Given the description of an element on the screen output the (x, y) to click on. 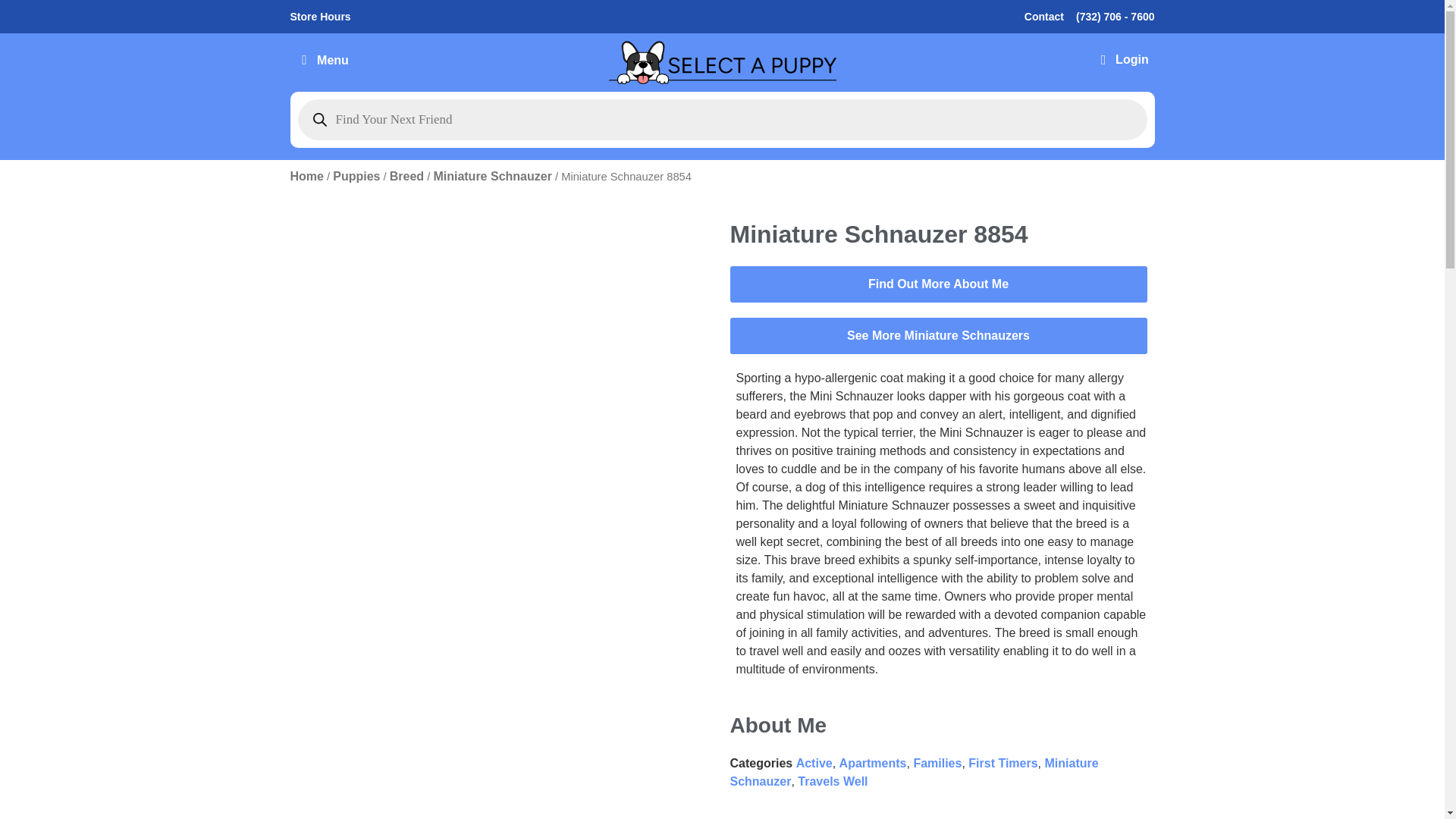
Families (936, 762)
Contact (1044, 16)
Menu (322, 62)
Home (306, 175)
First Timers (1002, 762)
Apartments (873, 762)
Breed (406, 175)
Miniature Schnauzer (491, 175)
Miniature Schnauzer (913, 771)
Active (814, 762)
